Given the description of an element on the screen output the (x, y) to click on. 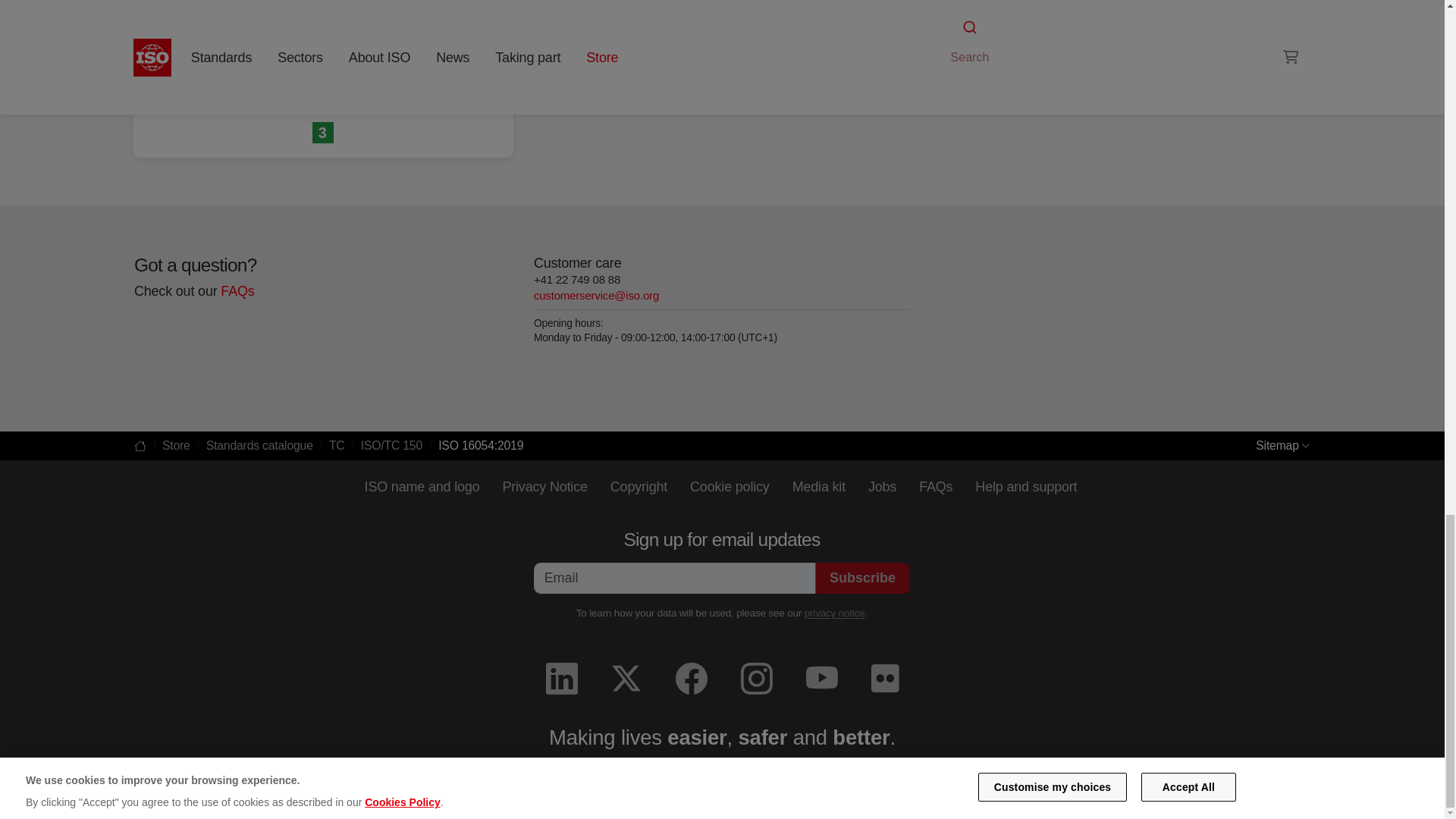
Good Health and Well-being (323, 133)
